Given the description of an element on the screen output the (x, y) to click on. 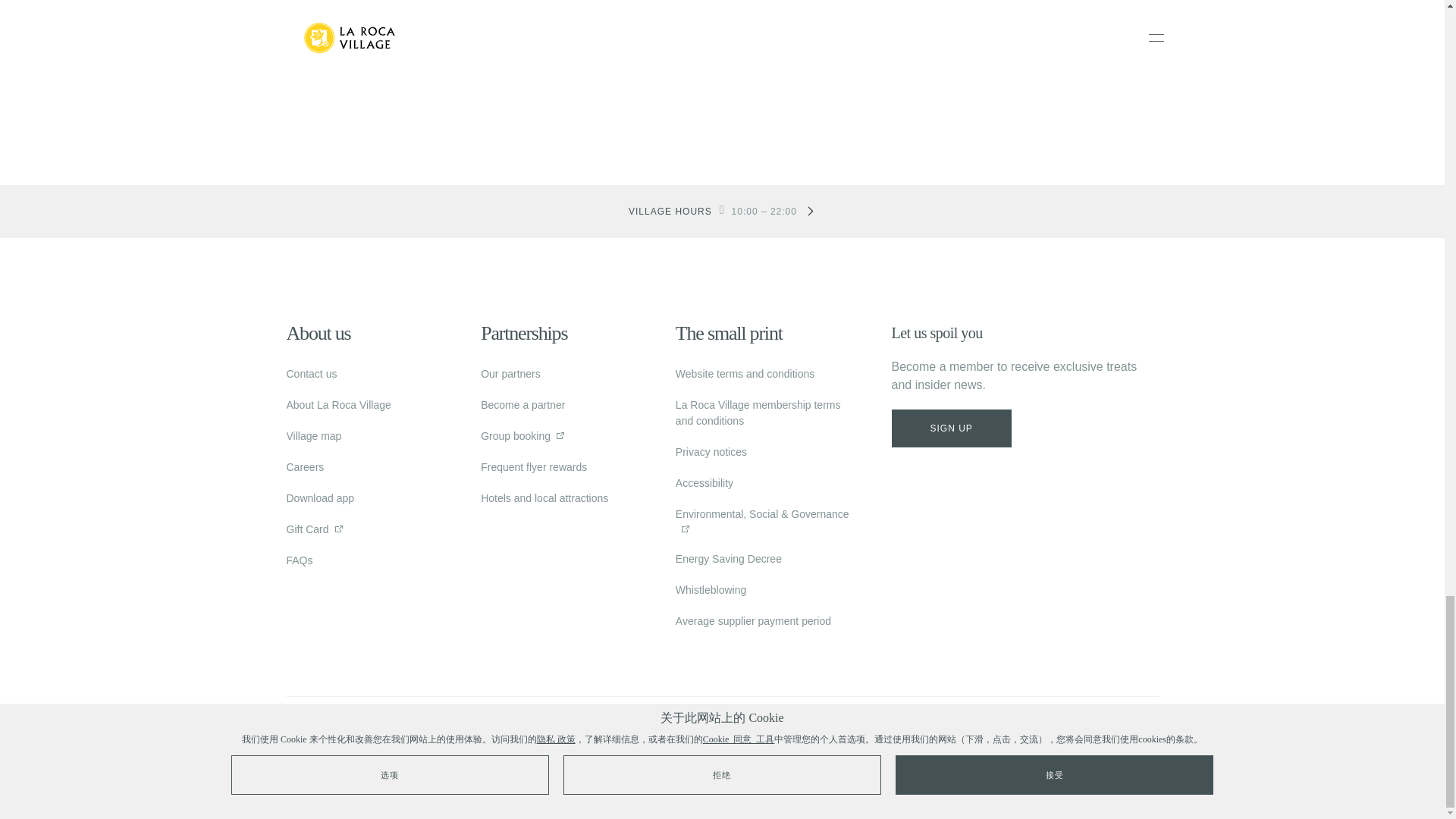
Group booking (515, 436)
Gift Card (307, 529)
Average supplier payment period (753, 621)
VIEW ON MAP (720, 48)
Privacy notices (710, 451)
Contact us (311, 373)
About La Roca Village (338, 404)
Whistleblowing (710, 590)
Become a partner (522, 404)
Download app (320, 498)
